Given the description of an element on the screen output the (x, y) to click on. 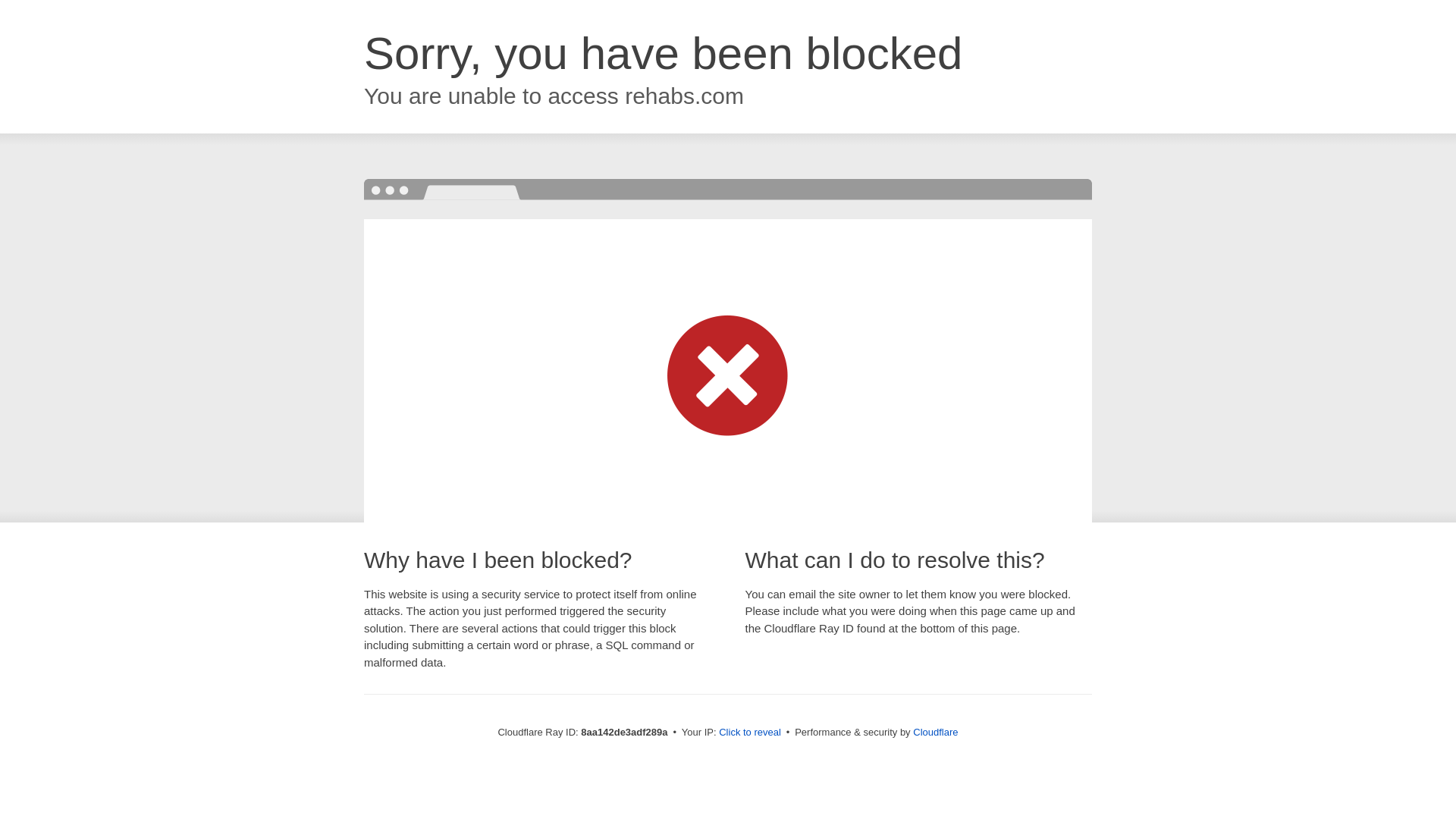
Click to reveal (749, 732)
Cloudflare (935, 731)
